Given the description of an element on the screen output the (x, y) to click on. 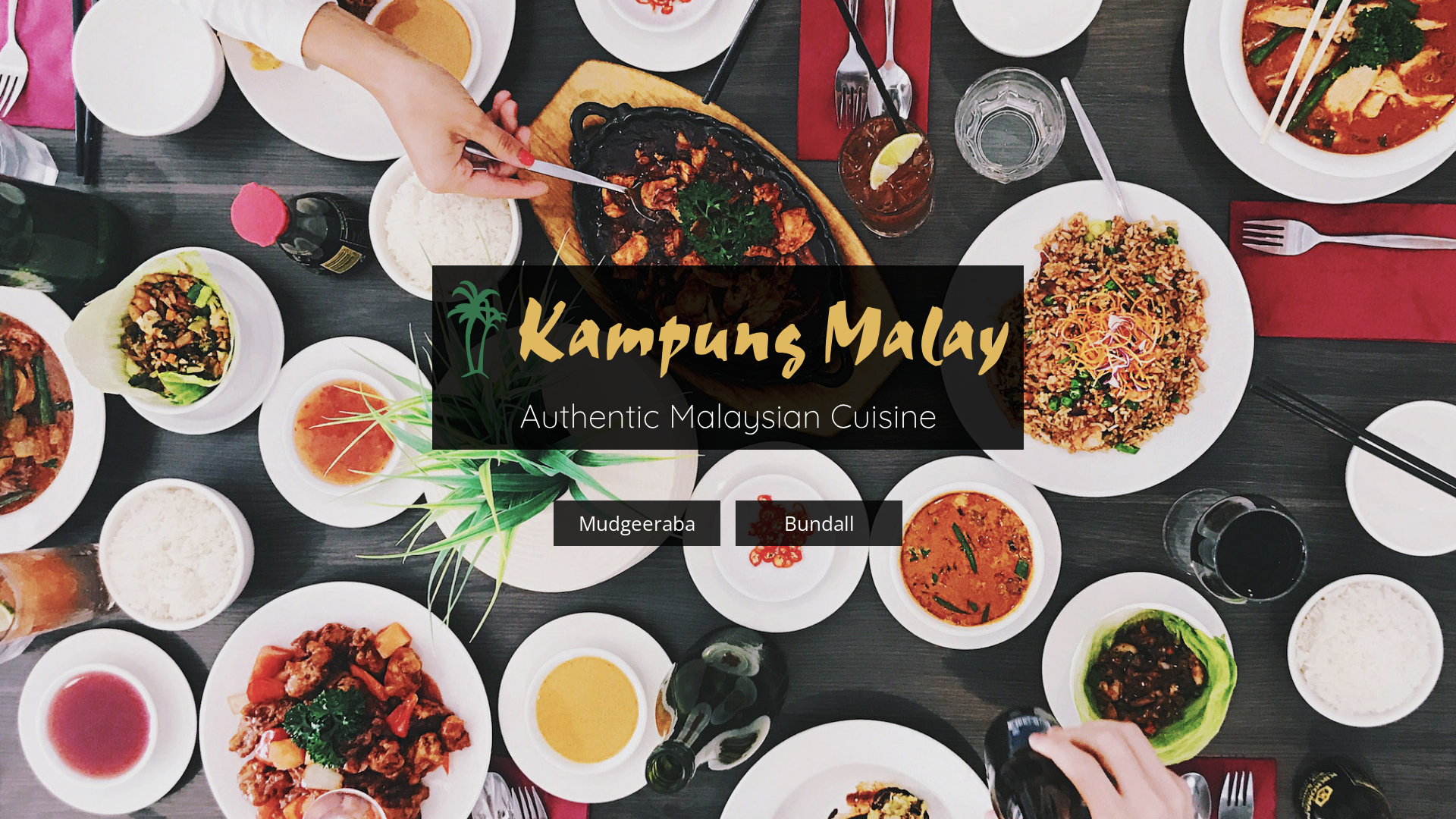
Bundall Element type: text (818, 523)
Mudgeeraba Element type: text (636, 523)
